Given the description of an element on the screen output the (x, y) to click on. 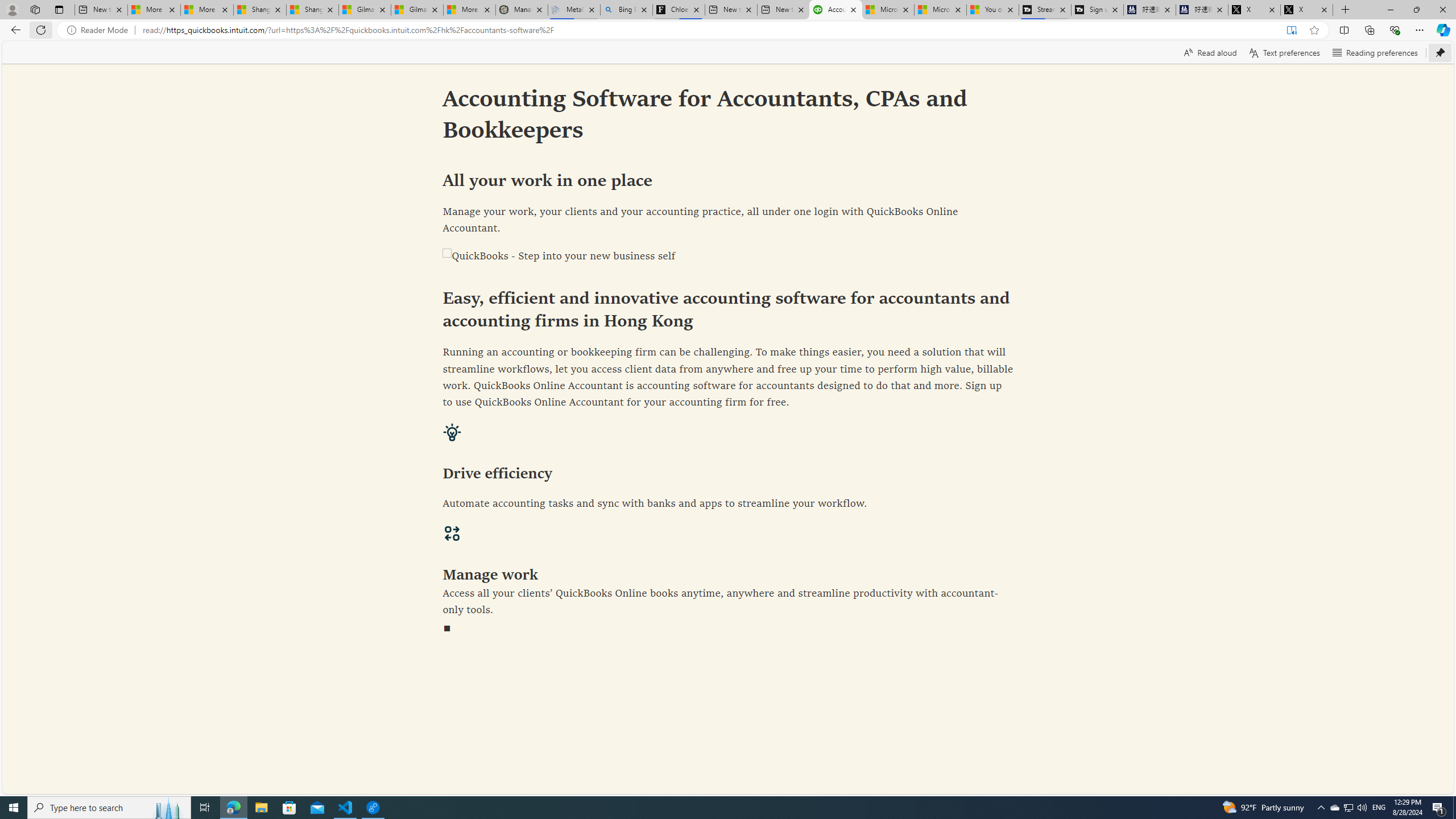
Microsoft Start Sports (887, 9)
Accounting Software for Accountants, CPAs and Bookkeepers (835, 9)
Read aloud (1209, 52)
App bar (728, 29)
QuickBooks - Step into your new business self (727, 256)
Manatee Mortality Statistics | FWC (521, 9)
